Given the description of an element on the screen output the (x, y) to click on. 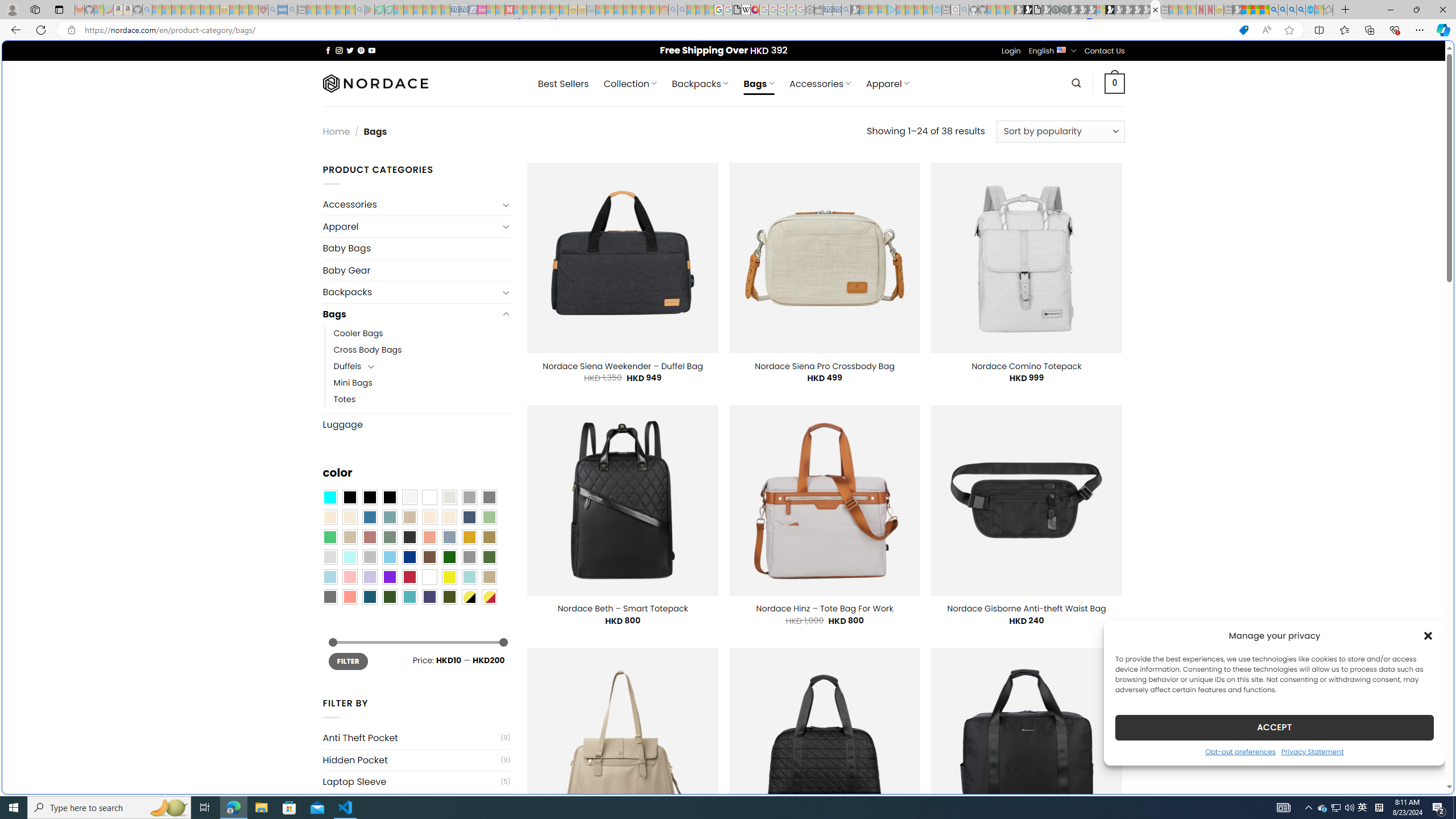
Login (1010, 50)
Coral (429, 536)
Luggage (416, 424)
Follow on Facebook (327, 49)
Anti Theft Pocket (410, 738)
Dark Gray (468, 497)
Contact Us (1104, 50)
Black-Brown (389, 497)
